Given the description of an element on the screen output the (x, y) to click on. 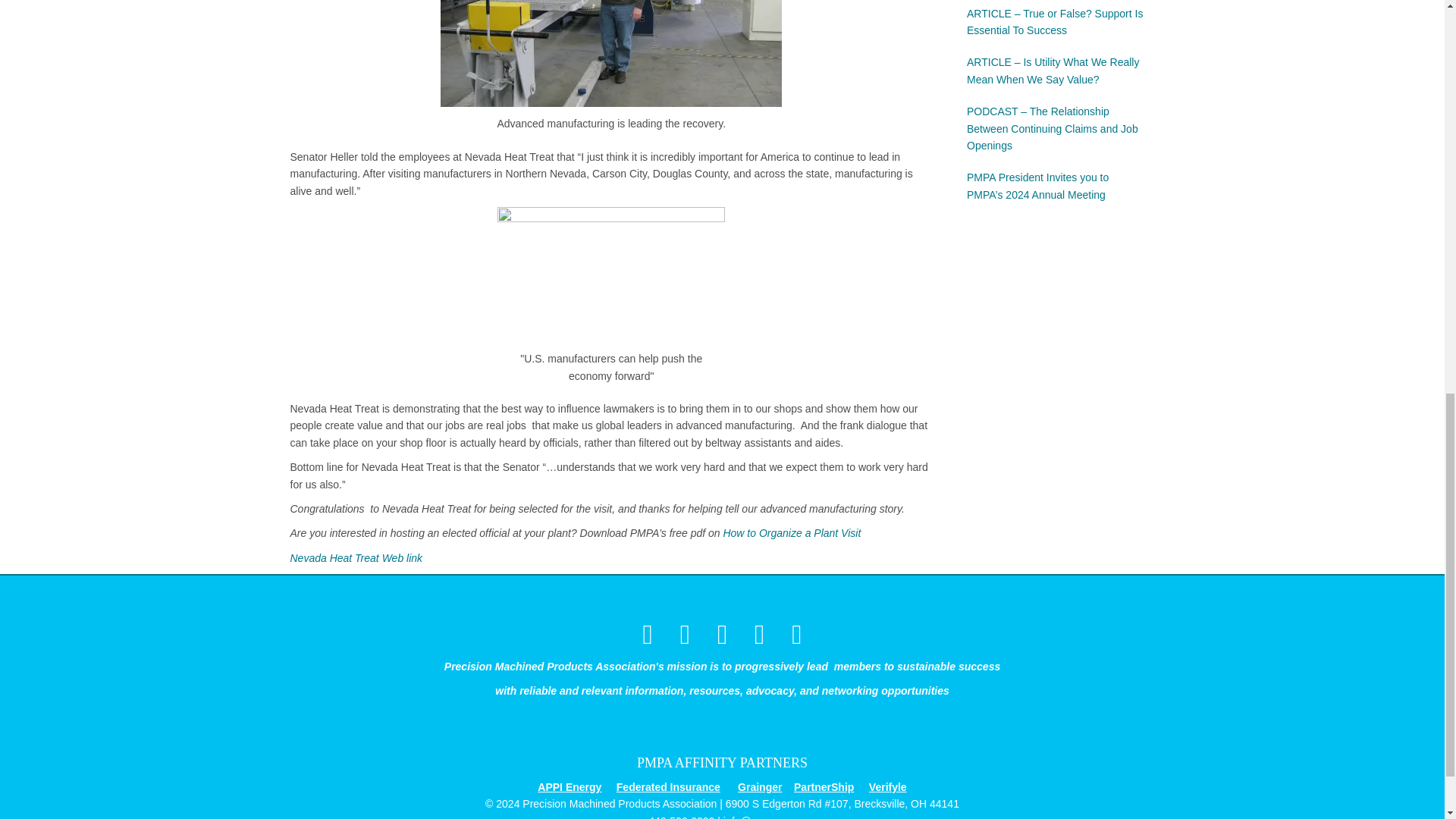
heller (611, 274)
